Given the description of an element on the screen output the (x, y) to click on. 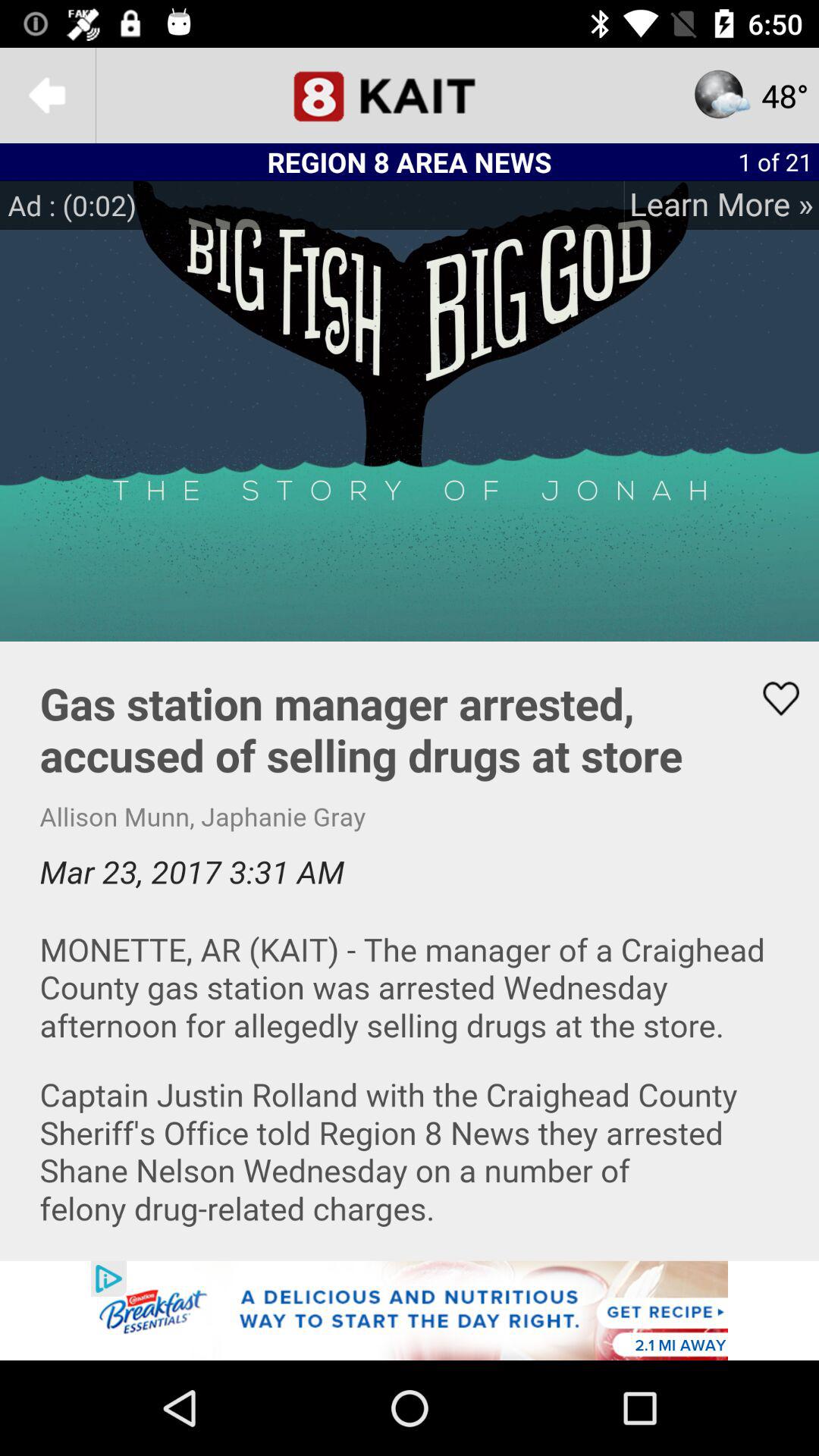
select option (409, 95)
